Given the description of an element on the screen output the (x, y) to click on. 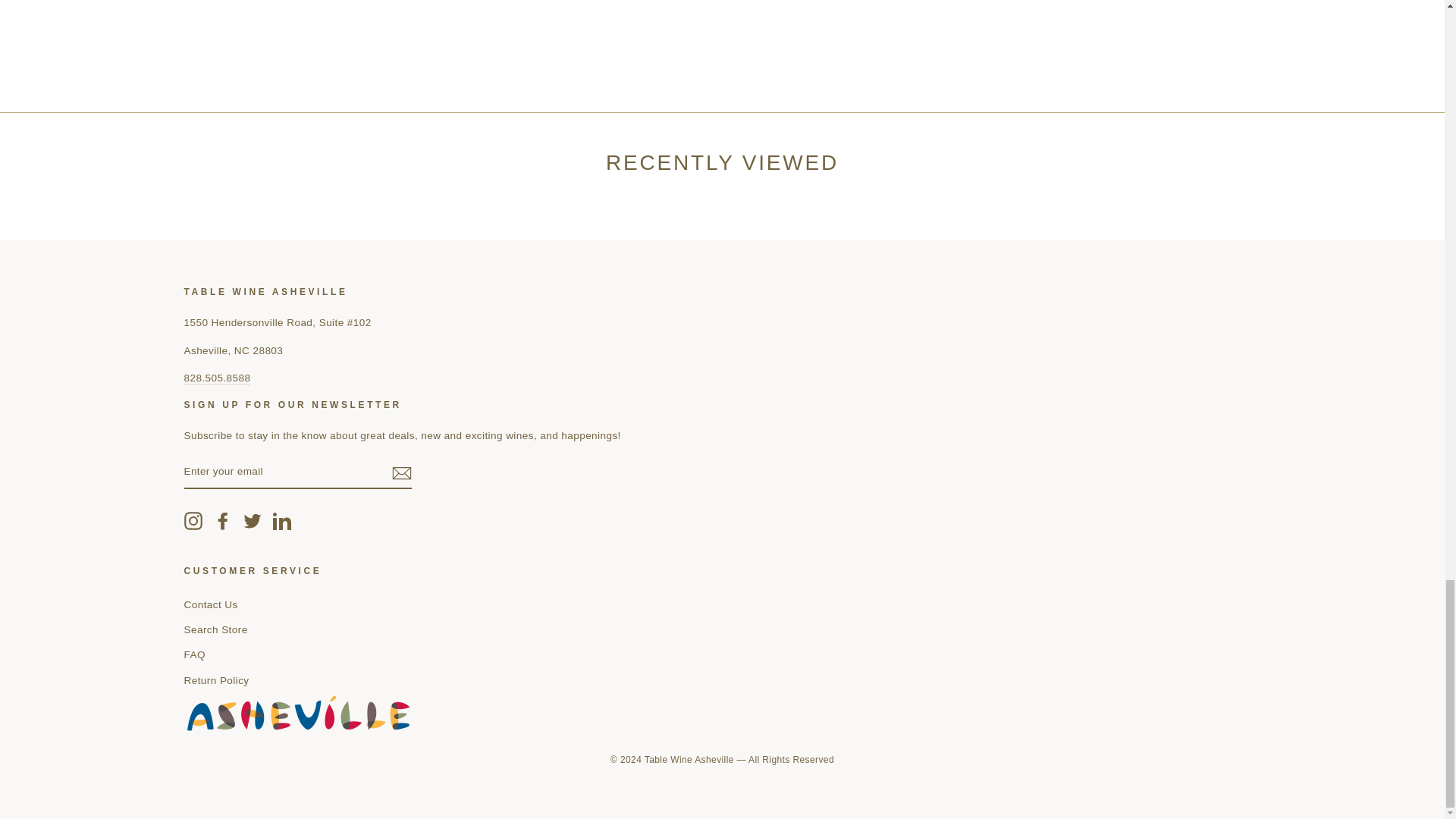
Table Wine Asheville on Instagram (192, 520)
tel:828.505.8588 (216, 378)
Table Wine Asheville on Twitter (251, 520)
Table Wine Asheville on Facebook (222, 520)
Table Wine Asheville on LinkedIn (282, 520)
